Given the description of an element on the screen output the (x, y) to click on. 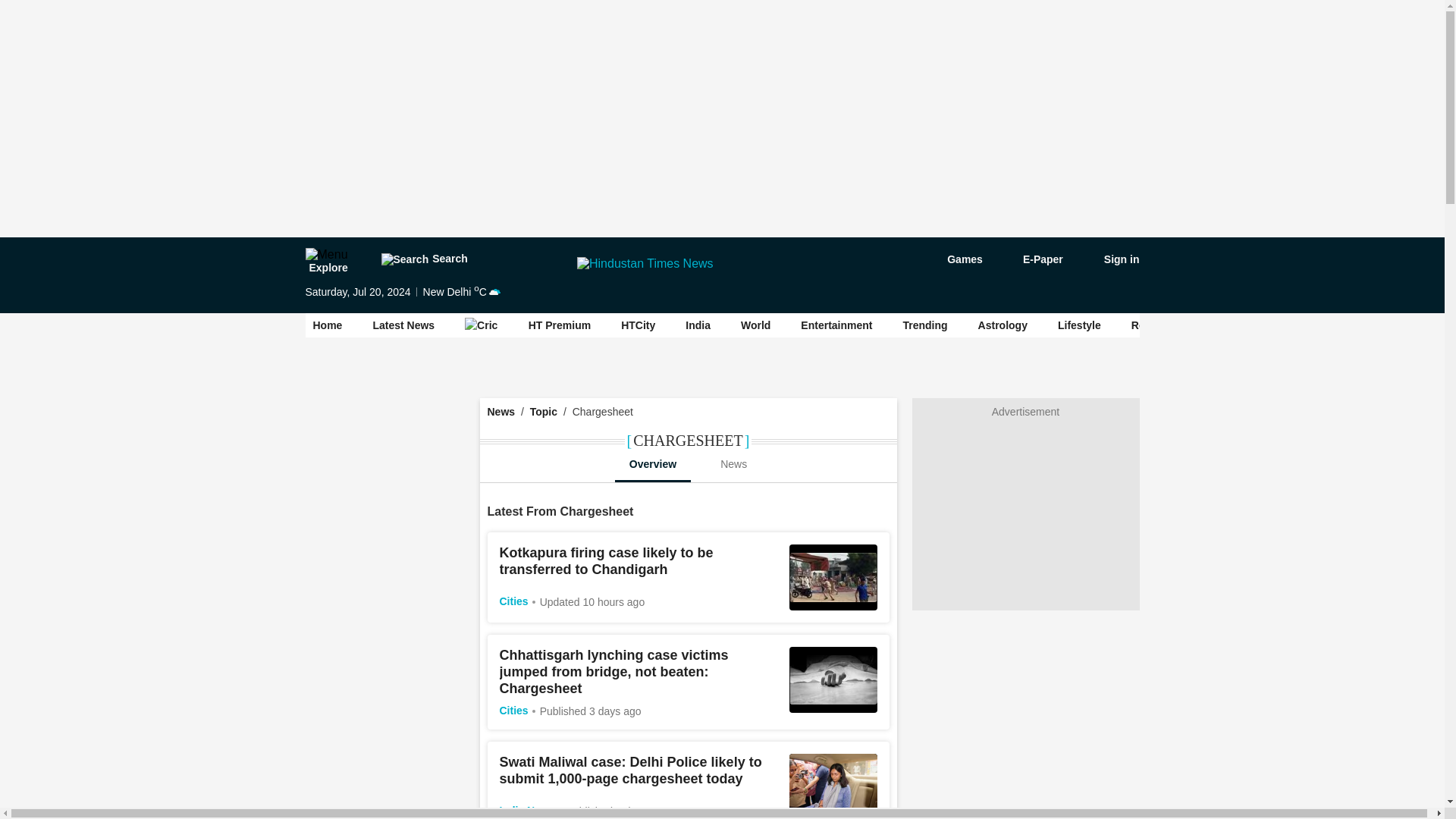
epaper (1034, 258)
Education (1243, 325)
HTCity (638, 325)
Kotkapura firing case likely to be transferred to Chandigarh (606, 561)
Crickit (480, 324)
News (733, 463)
Shop Now (1384, 325)
Cities (1314, 325)
India (697, 325)
Overview (652, 463)
Astrology (1002, 325)
Search (423, 258)
Cities (513, 601)
HT Premium (559, 325)
